Given the description of an element on the screen output the (x, y) to click on. 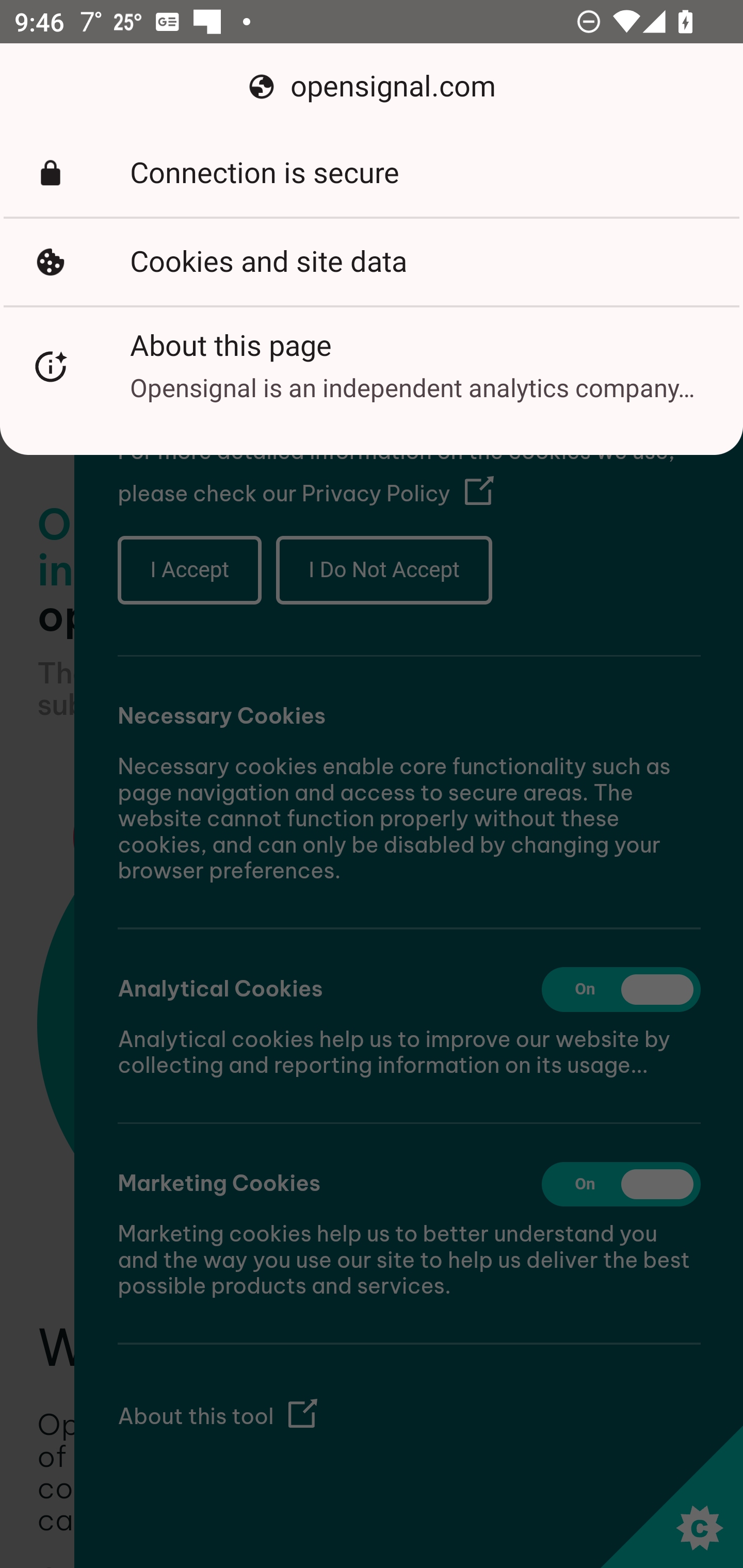
opensignal.com (371, 86)
Connection is secure (371, 173)
Cookies and site data (371, 261)
